Given the description of an element on the screen output the (x, y) to click on. 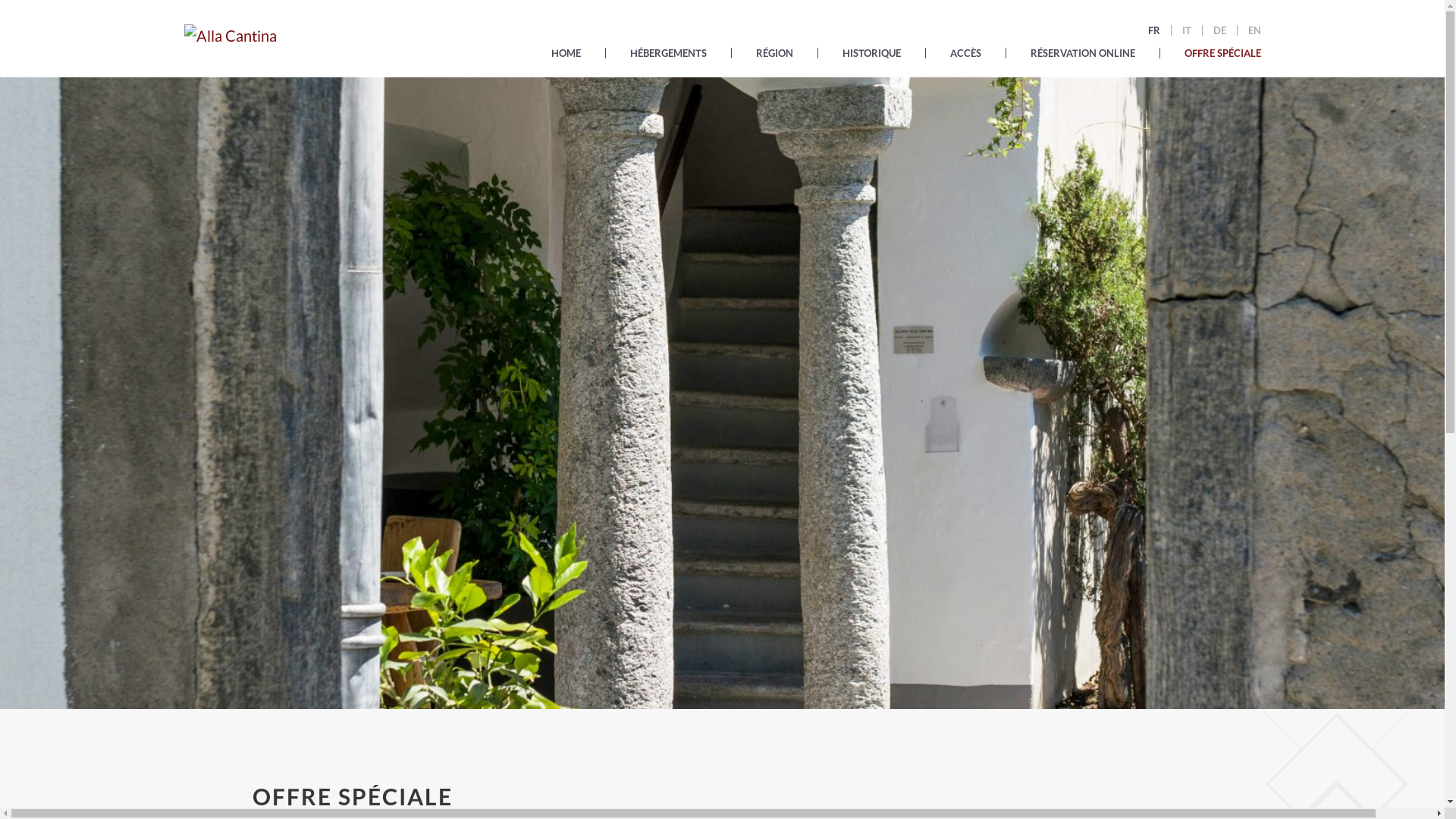
HOME Element type: text (565, 56)
EN Element type: text (1249, 30)
DE Element type: text (1219, 30)
IT Element type: text (1185, 30)
HISTORIQUE Element type: text (870, 56)
FR Element type: text (1153, 30)
